Given the description of an element on the screen output the (x, y) to click on. 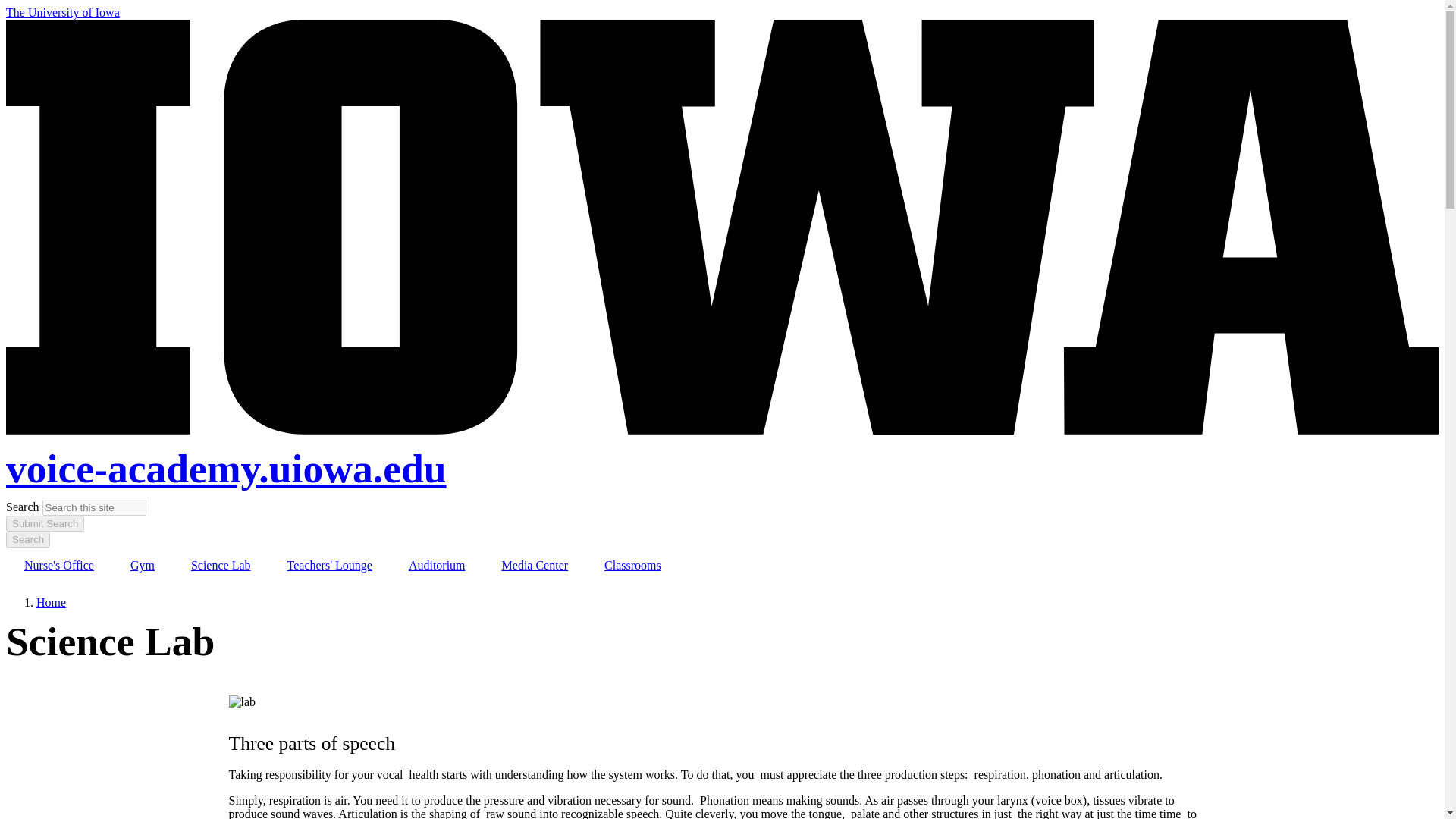
Media Center (534, 565)
Classrooms (632, 565)
Teachers' Lounge (329, 565)
Nurse's Office (58, 565)
Home (50, 602)
Search (27, 539)
Gym (142, 565)
voice-academy.uiowa.edu (225, 468)
Submit Search (44, 523)
Science Lab (221, 565)
Auditorium (436, 565)
